Given the description of an element on the screen output the (x, y) to click on. 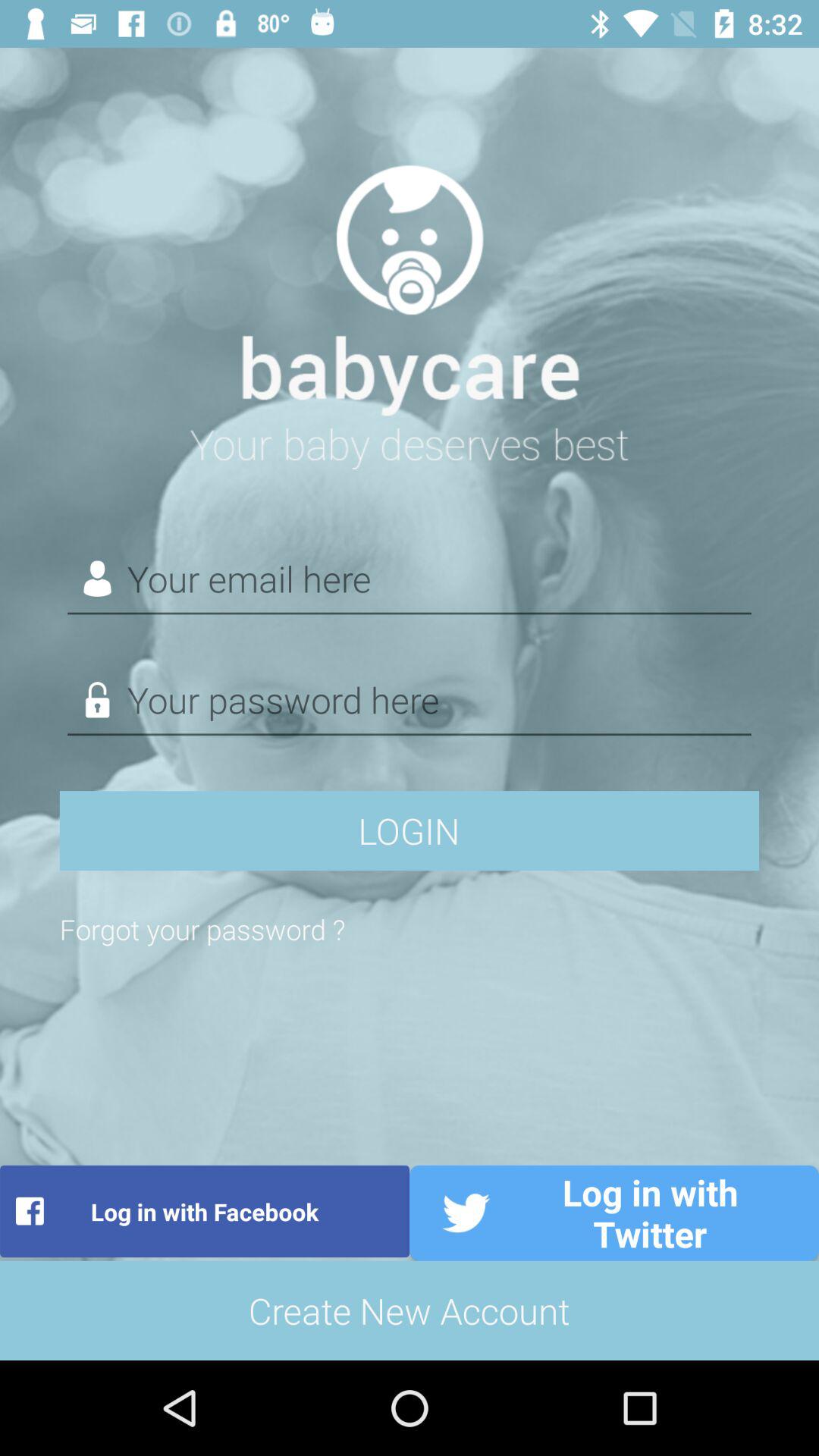
click to enter the password (409, 700)
